Given the description of an element on the screen output the (x, y) to click on. 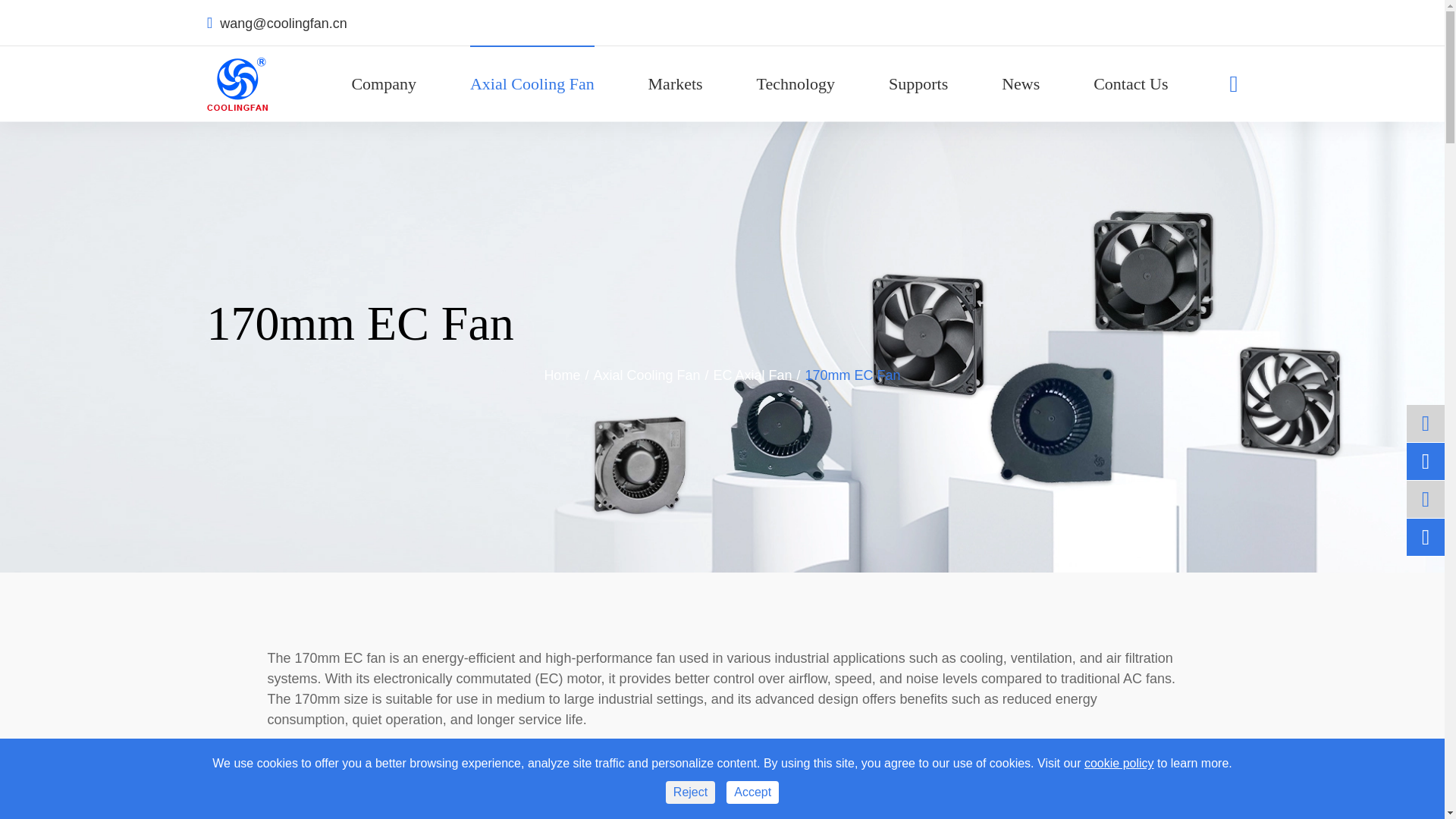
EC Axial Fan (752, 376)
Axial Cooling Fan (532, 83)
Axial Cooling Fan (646, 376)
Shenzhen Xiehengda Electronics Co.,Ltd. (236, 83)
Company (383, 83)
170mm EC Fan (853, 376)
